Given the description of an element on the screen output the (x, y) to click on. 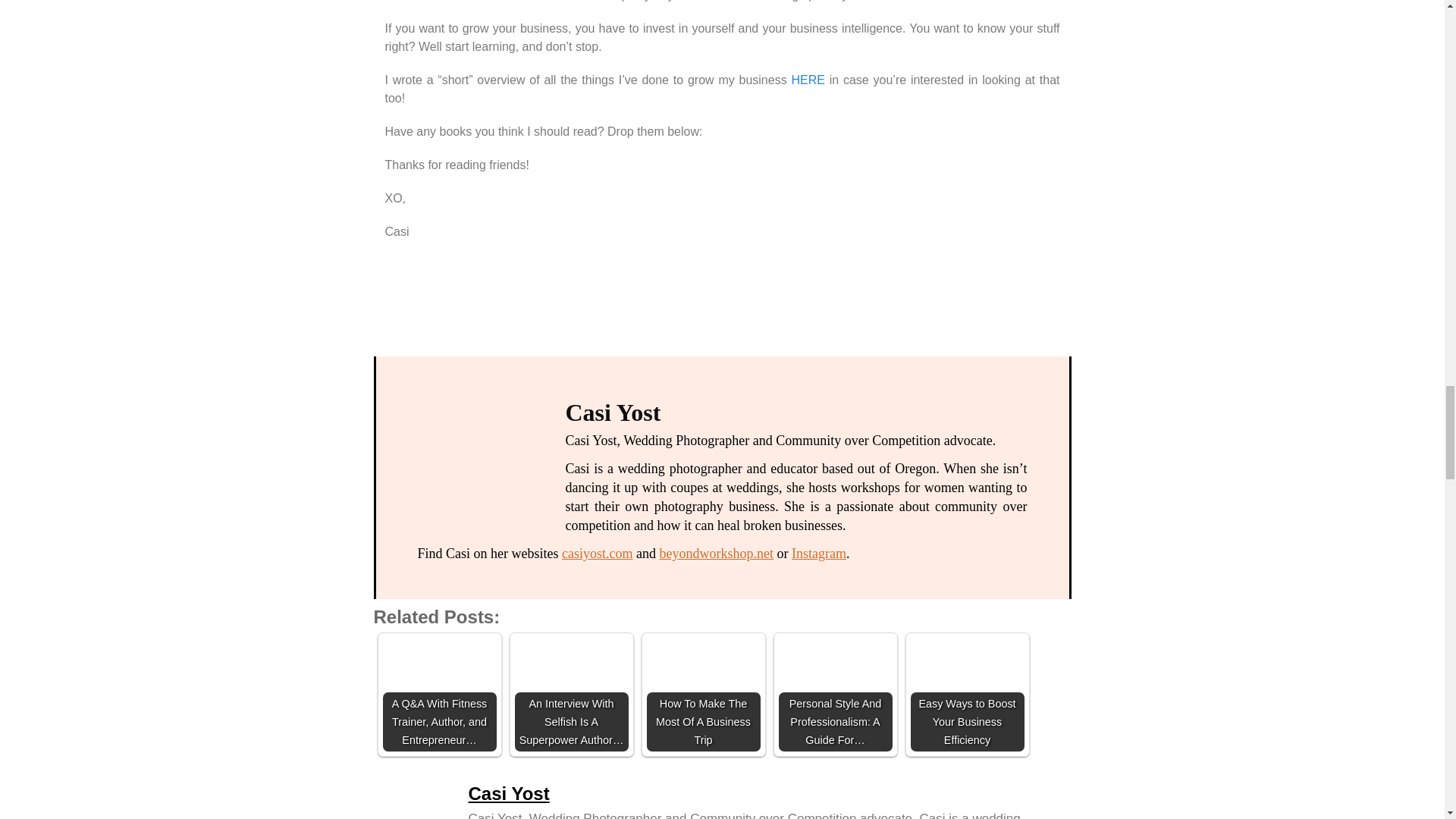
How To Make The Most Of A Business Trip (703, 694)
Easy Ways to Boost Your Business Efficiency (966, 694)
